Given the description of an element on the screen output the (x, y) to click on. 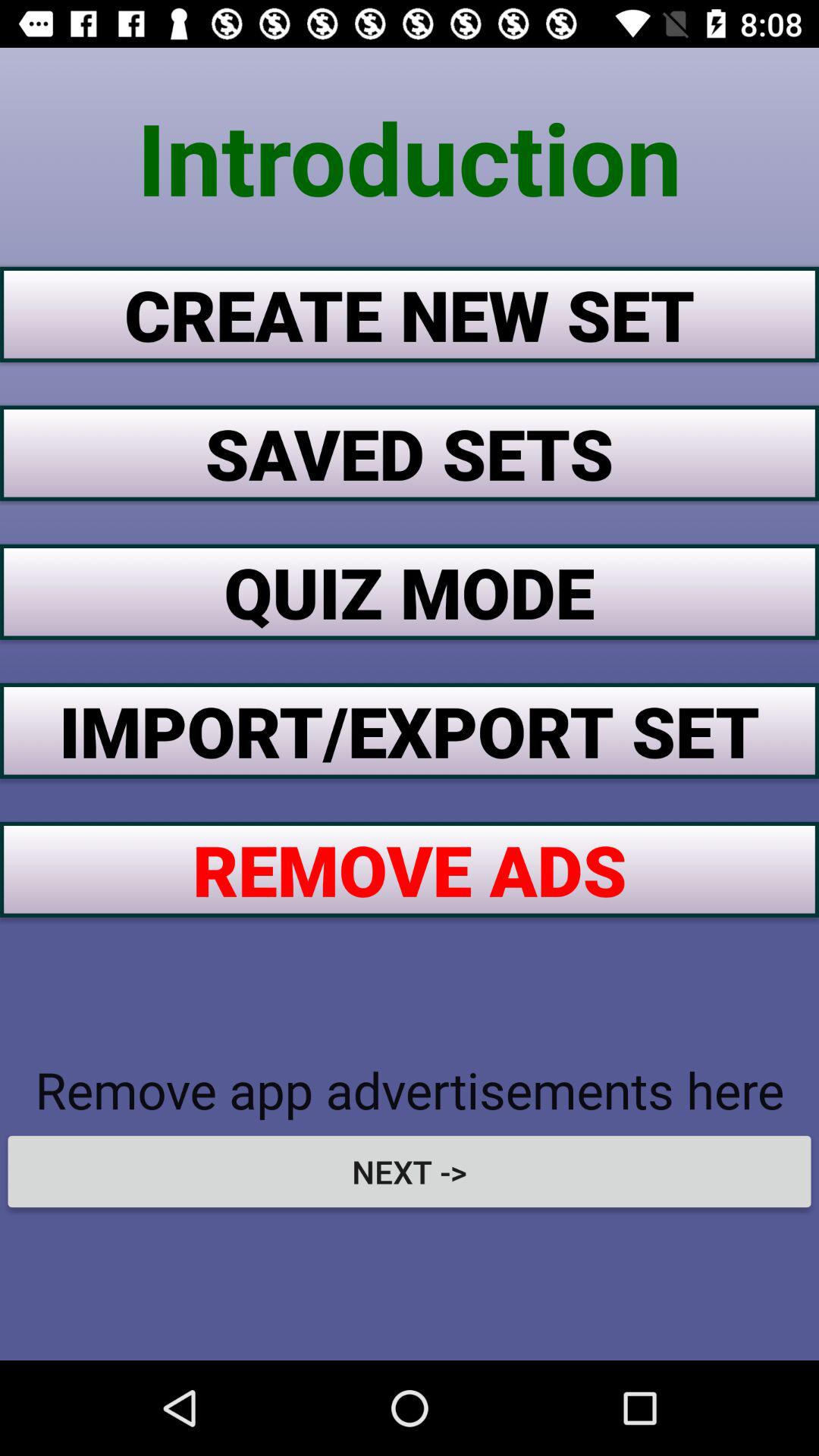
tap the icon above the quiz mode icon (409, 453)
